Given the description of an element on the screen output the (x, y) to click on. 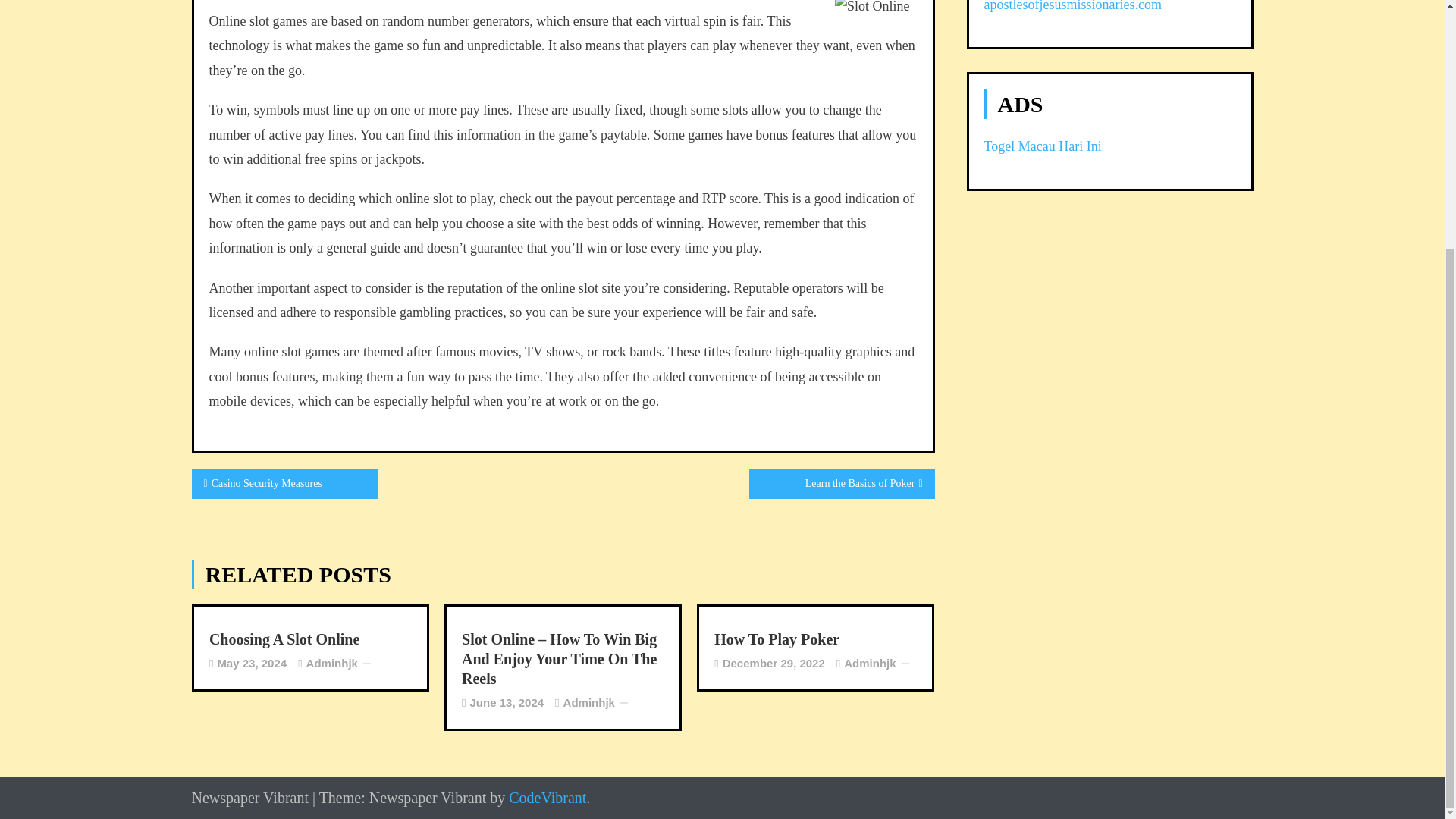
December 29, 2022 (773, 662)
Casino Security Measures (283, 483)
Adminhjk (588, 702)
June 13, 2024 (507, 702)
CodeVibrant (547, 797)
Learn the Basics of Poker (841, 483)
apostlesofjesusmissionaries.com (1072, 6)
Togel Macau Hari Ini (1043, 145)
Adminhjk (331, 662)
May 23, 2024 (251, 662)
Adminhjk (869, 662)
How To Play Poker (815, 639)
Choosing A Slot Online (310, 639)
